Given the description of an element on the screen output the (x, y) to click on. 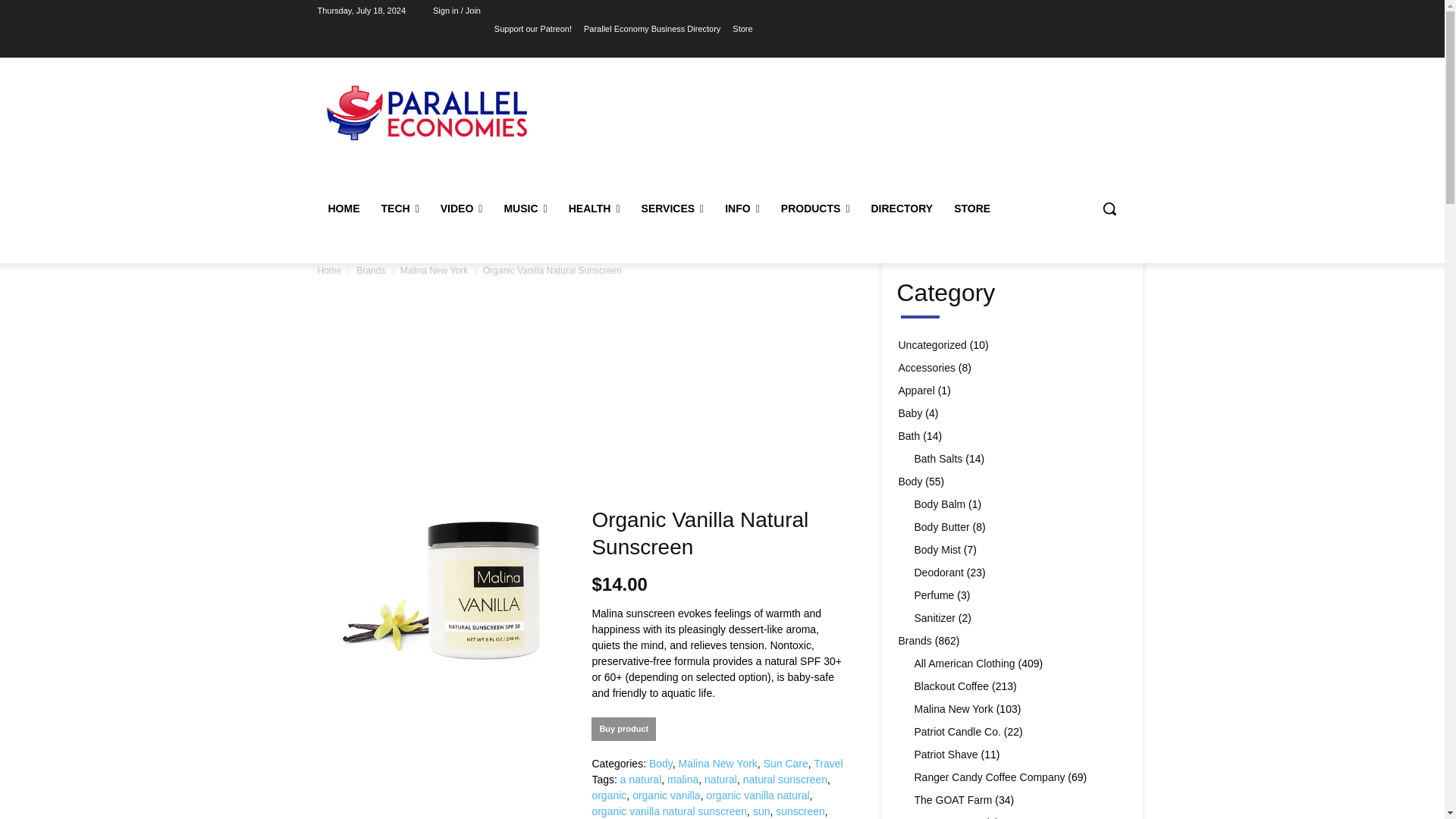
Parallel Economies Logo (426, 112)
Parallel Economy Business Directory (651, 28)
Support our Patreon! (533, 28)
Store (742, 28)
